Given the description of an element on the screen output the (x, y) to click on. 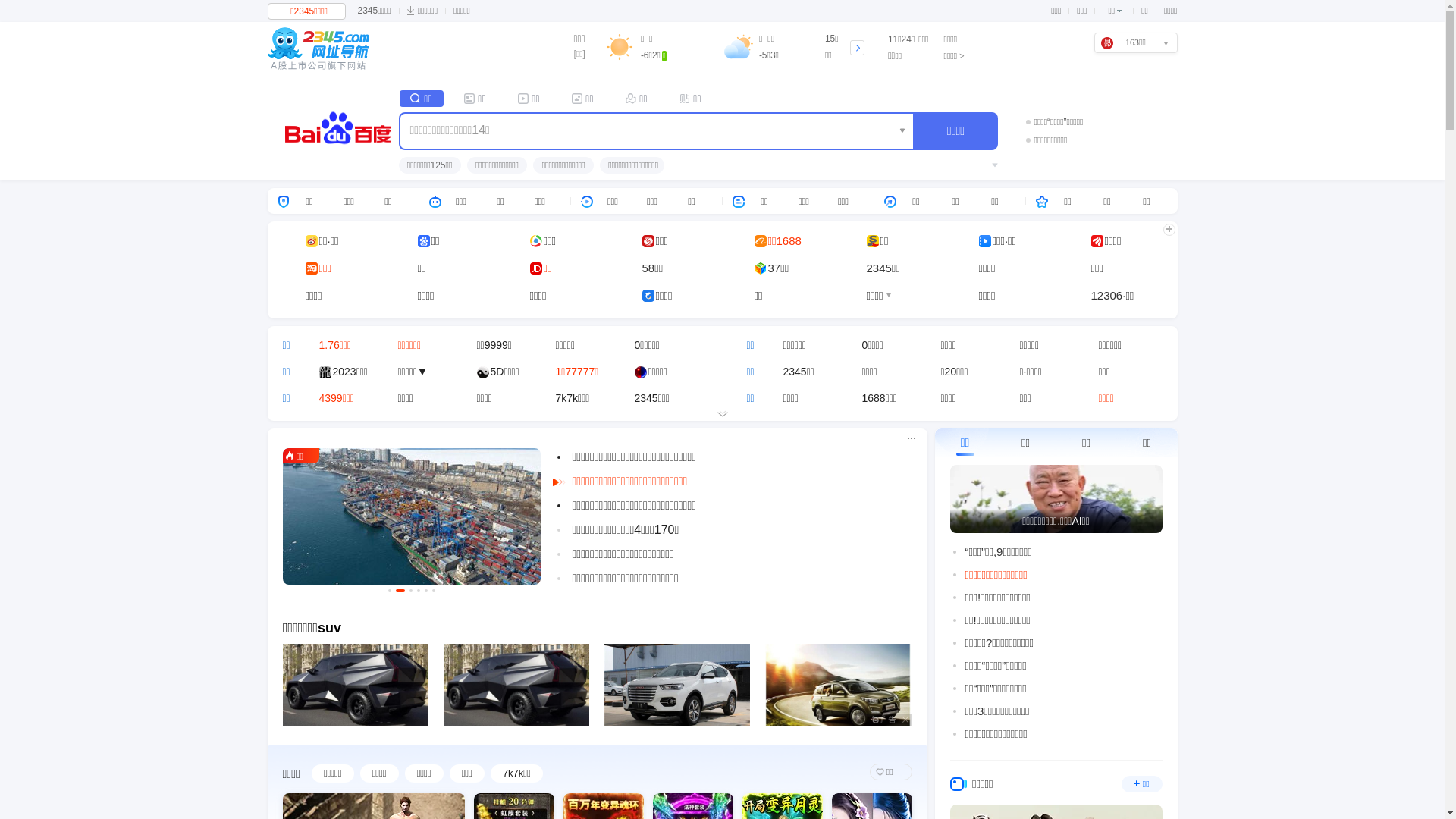
12306 Element type: text (1106, 295)
